Given the description of an element on the screen output the (x, y) to click on. 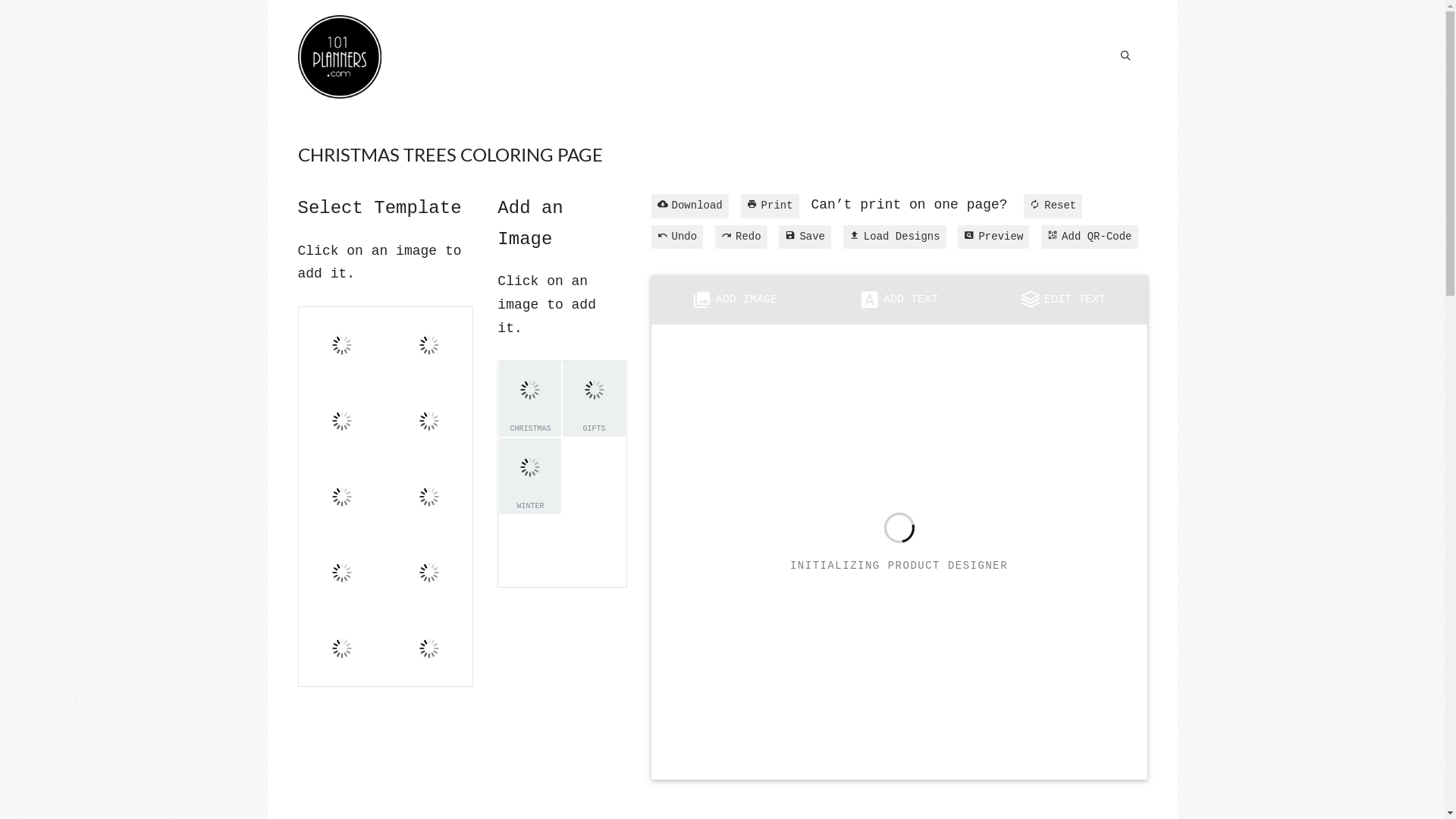
CHRISTMAS TREES COLORING PAGE Element type: text (449, 154)
Coloring Pages Element type: hover (338, 56)
Coloring Pages Element type: hover (338, 56)
